Given the description of an element on the screen output the (x, y) to click on. 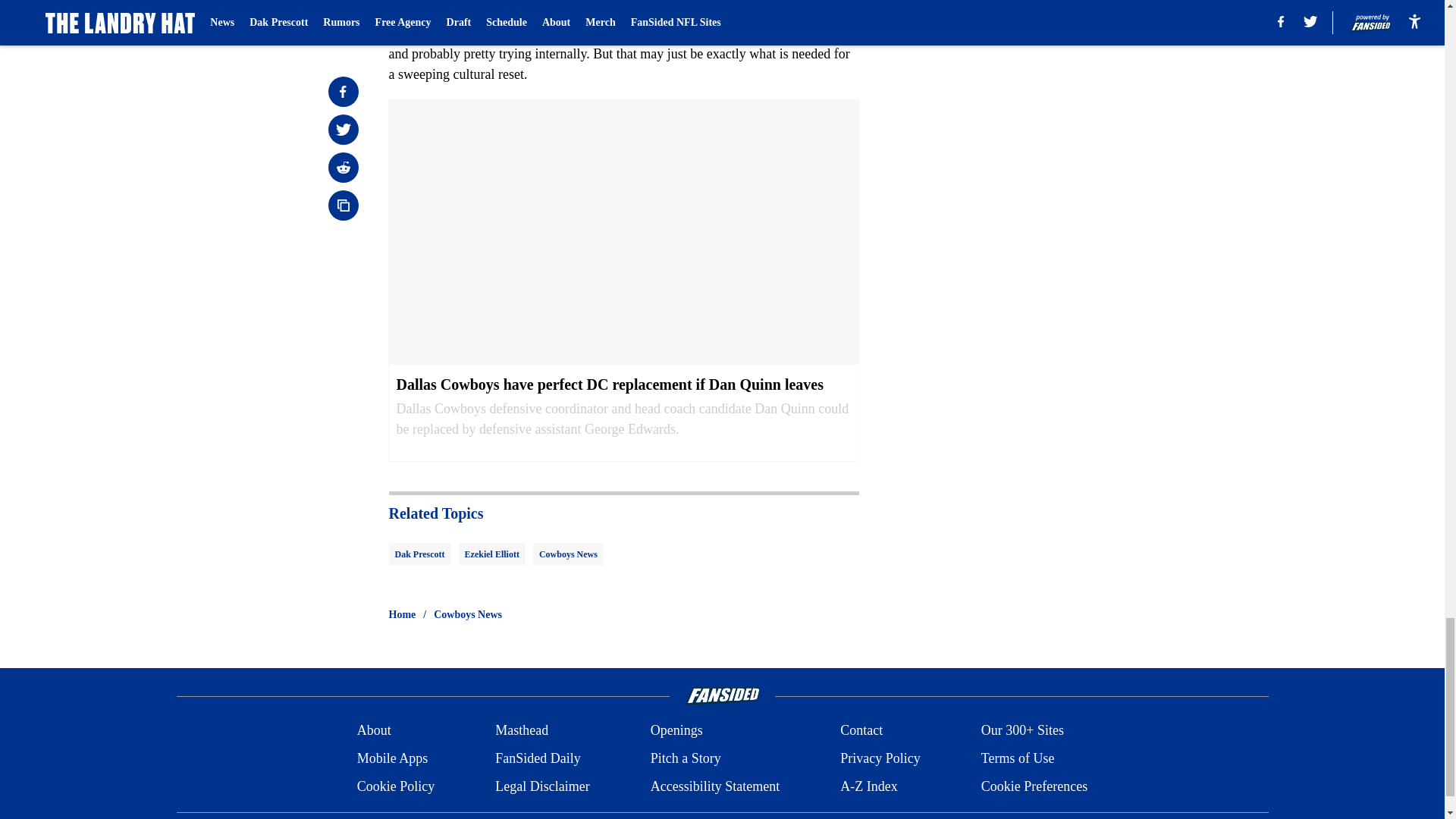
Openings (676, 730)
Cowboys News (568, 553)
Dak Prescott (418, 553)
Masthead (521, 730)
About (373, 730)
Cowboys News (467, 614)
Ezekiel Elliott (491, 553)
Contact (861, 730)
Home (401, 614)
